Given the description of an element on the screen output the (x, y) to click on. 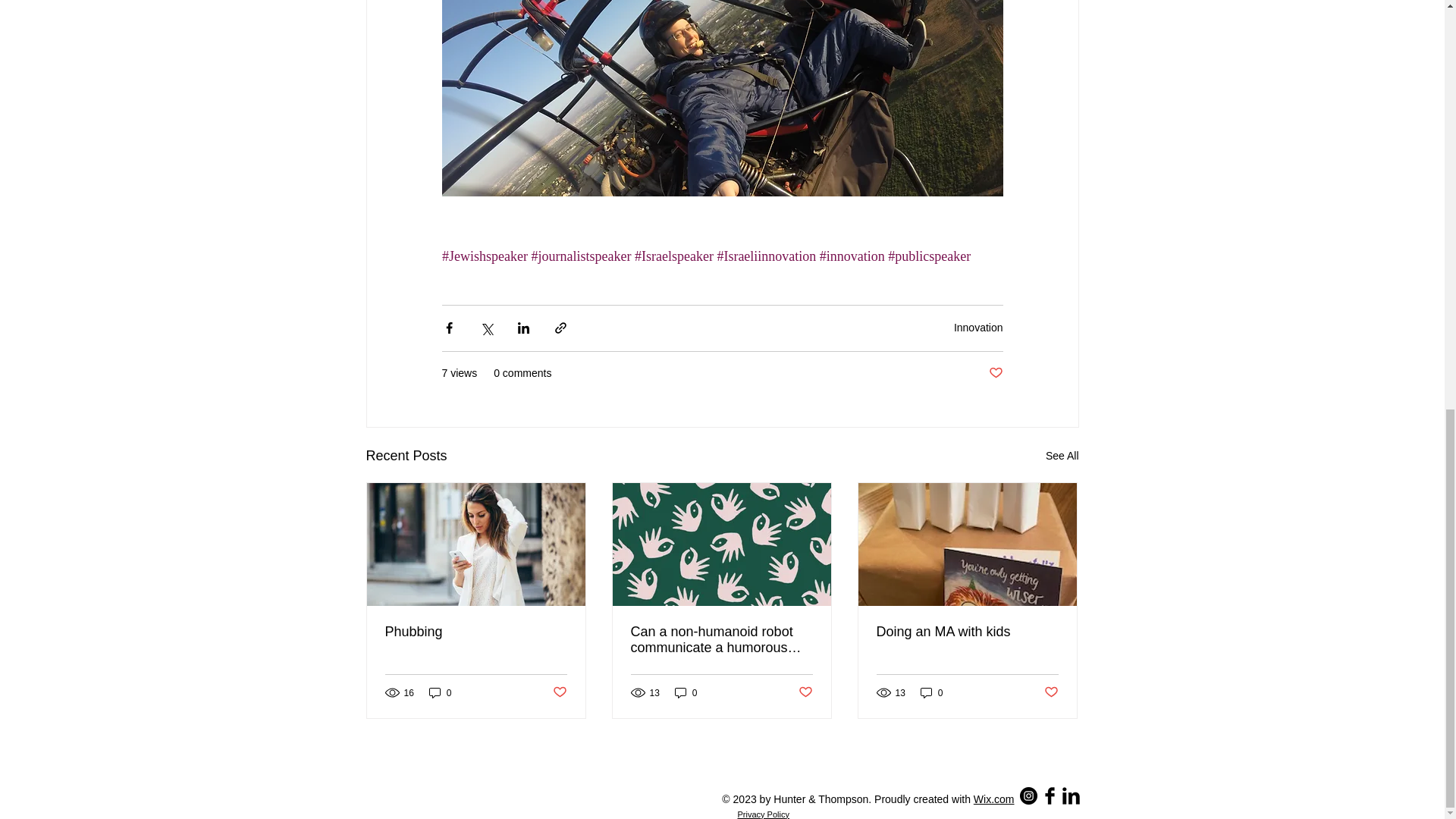
Innovation (978, 327)
See All (1061, 455)
Phubbing (476, 631)
Post not marked as liked (995, 373)
